Given the description of an element on the screen output the (x, y) to click on. 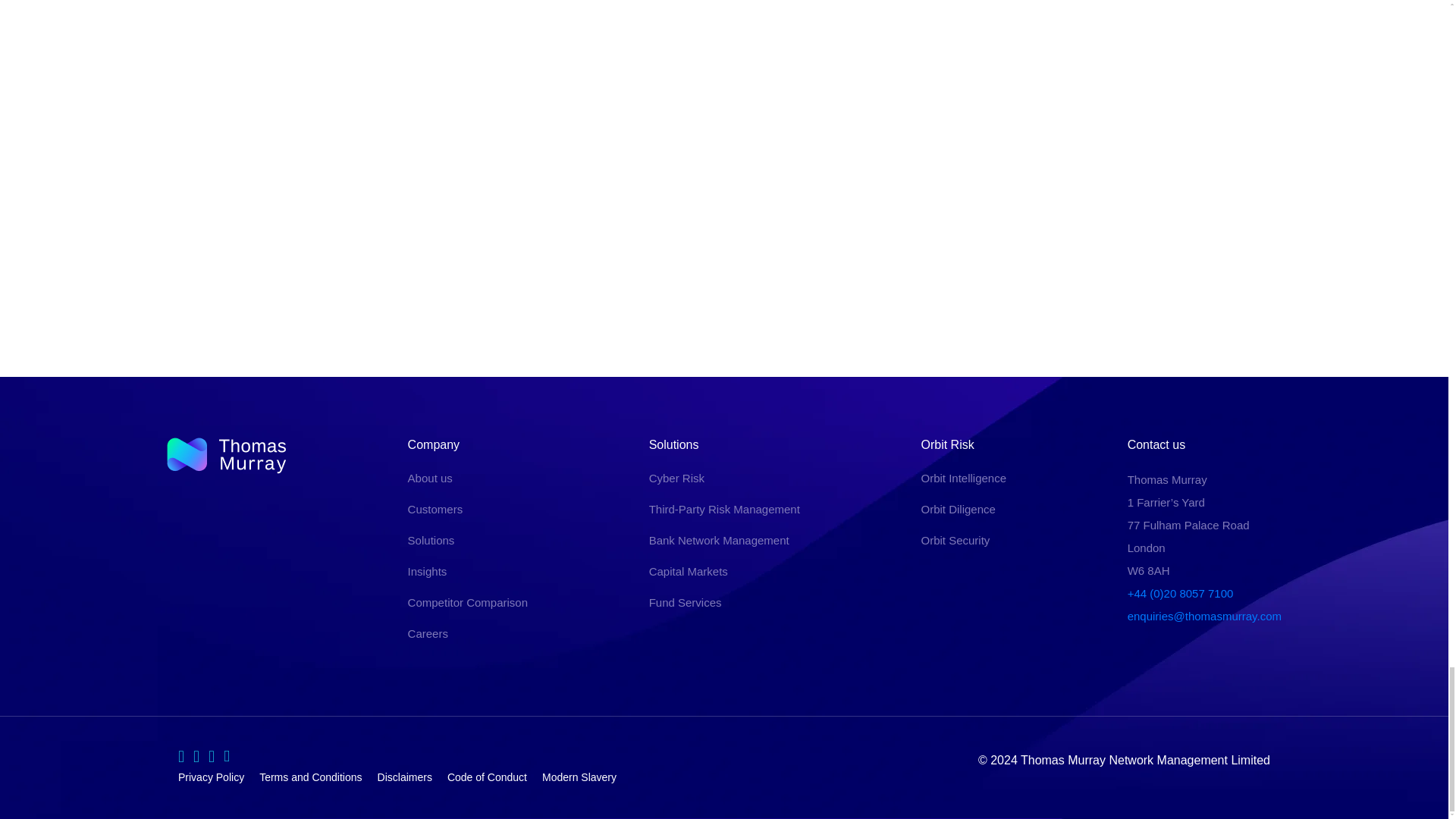
About us (429, 477)
Competitor Comparison (467, 602)
Customers (435, 508)
Insights (426, 571)
Careers (427, 633)
Solutions (430, 540)
Cyber Risk (676, 477)
